Given the description of an element on the screen output the (x, y) to click on. 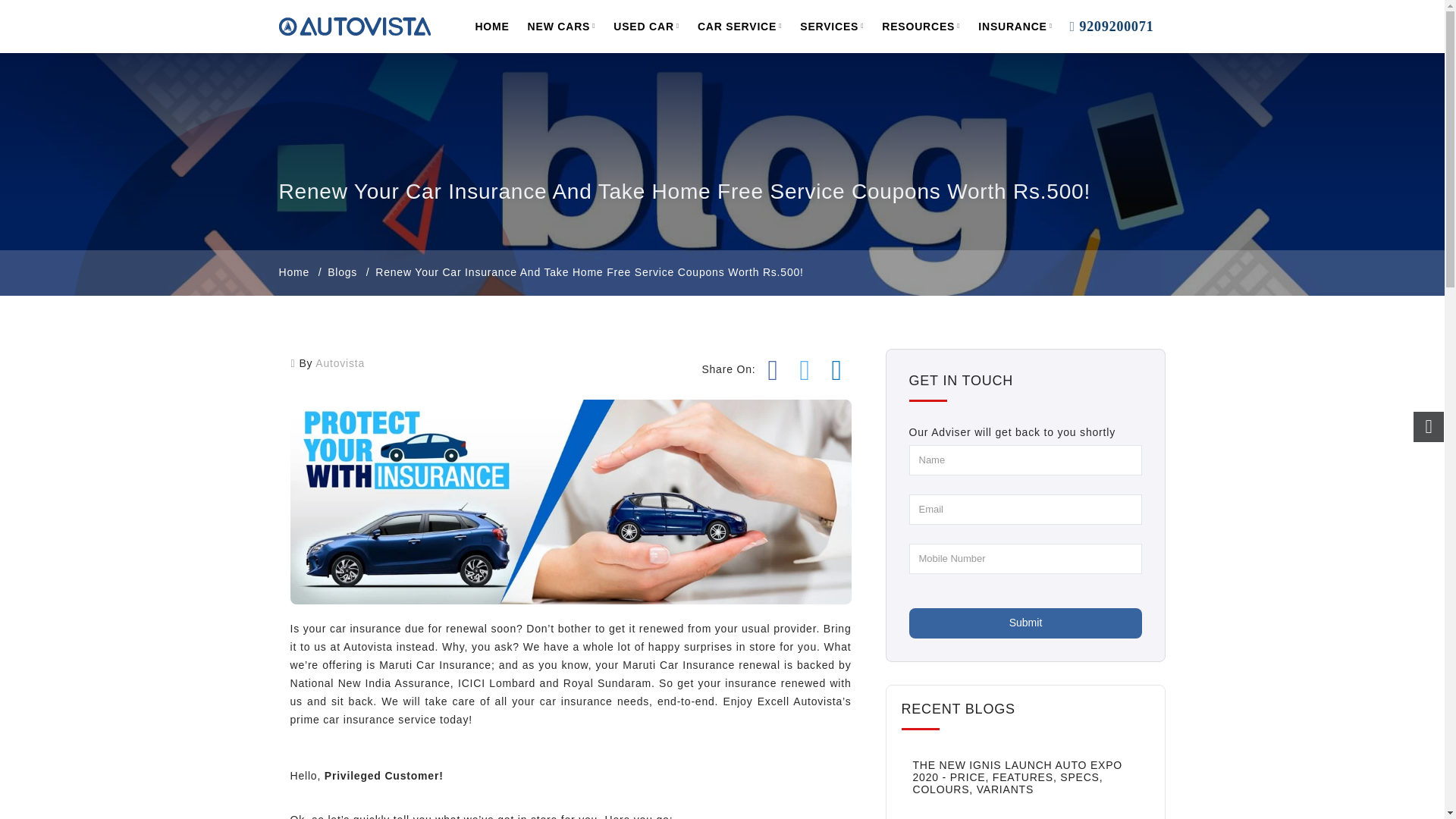
SERVICES (831, 26)
9209200071 (1106, 26)
RESOURCES (920, 26)
HOME (491, 26)
USED CAR (646, 26)
NEW CARS (569, 501)
CAR SERVICE (561, 26)
INSURANCE (739, 26)
